Given the description of an element on the screen output the (x, y) to click on. 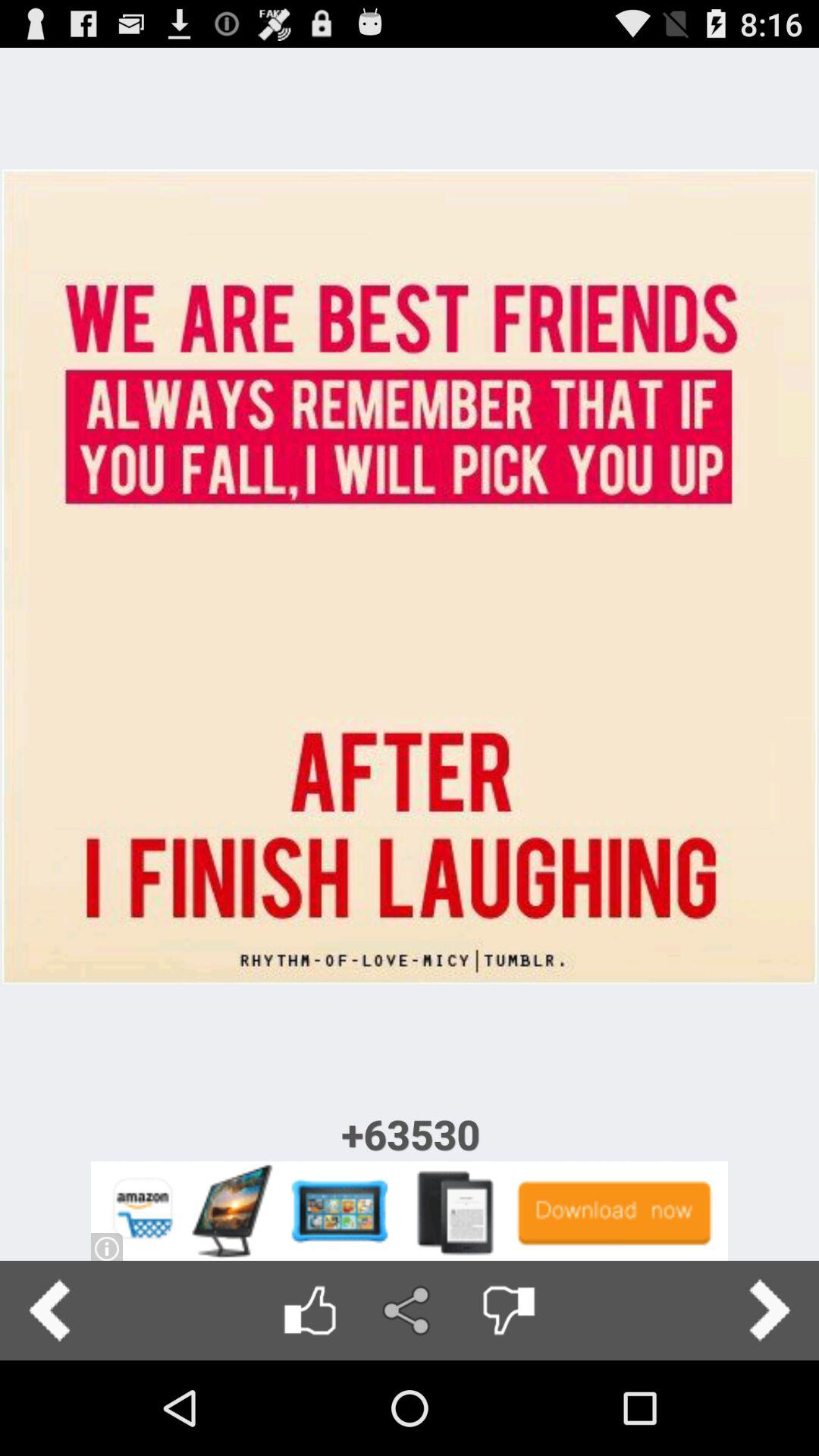
dislike post (508, 1310)
